Given the description of an element on the screen output the (x, y) to click on. 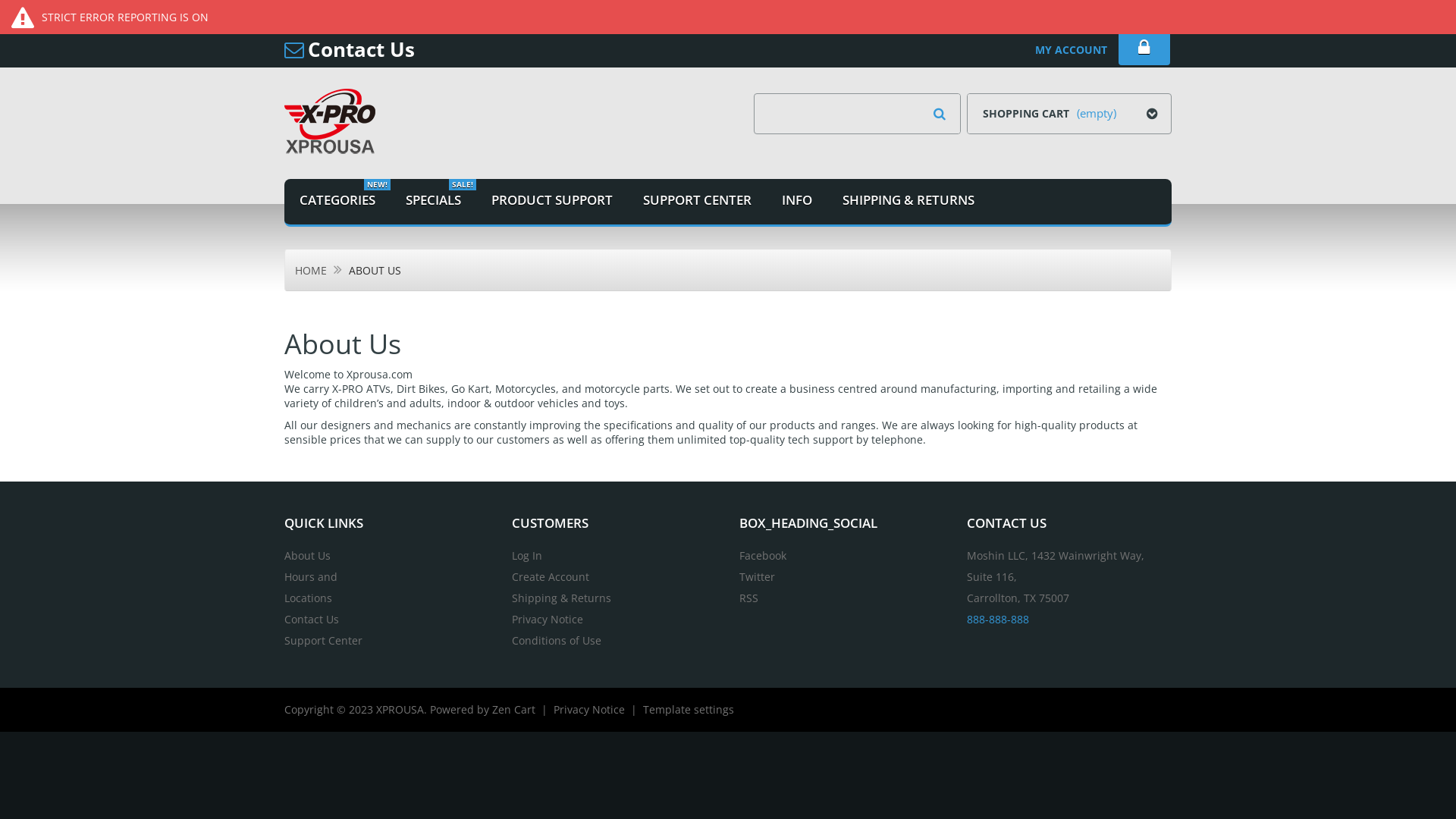
SUPPORT CENTER Element type: text (696, 201)
Conditions of Use Element type: text (556, 640)
Twitter Element type: text (757, 576)
XPROUSA Element type: text (399, 709)
CATEGORIES
NEW! Element type: text (337, 201)
INFO Element type: text (796, 201)
Contact Us Element type: text (311, 618)
Support Center Element type: text (323, 640)
MY ACCOUNT Element type: text (1071, 49)
Privacy Notice Element type: text (588, 709)
Create Account Element type: text (550, 576)
PRODUCT SUPPORT Element type: text (551, 201)
Hours and Locations Element type: text (310, 587)
SPECIALS
SALE! Element type: text (433, 201)
Contact Us Element type: text (360, 48)
Shipping & Returns Element type: text (561, 597)
HOME Element type: text (310, 270)
SHIPPING & RETURNS Element type: text (908, 201)
Log In Element type: text (526, 555)
About Us Element type: text (307, 555)
Template settings Element type: text (688, 709)
Privacy Notice Element type: text (547, 618)
RSS Element type: text (748, 597)
Zen Cart Element type: text (513, 709)
Facebook Element type: text (762, 555)
